Given the description of an element on the screen output the (x, y) to click on. 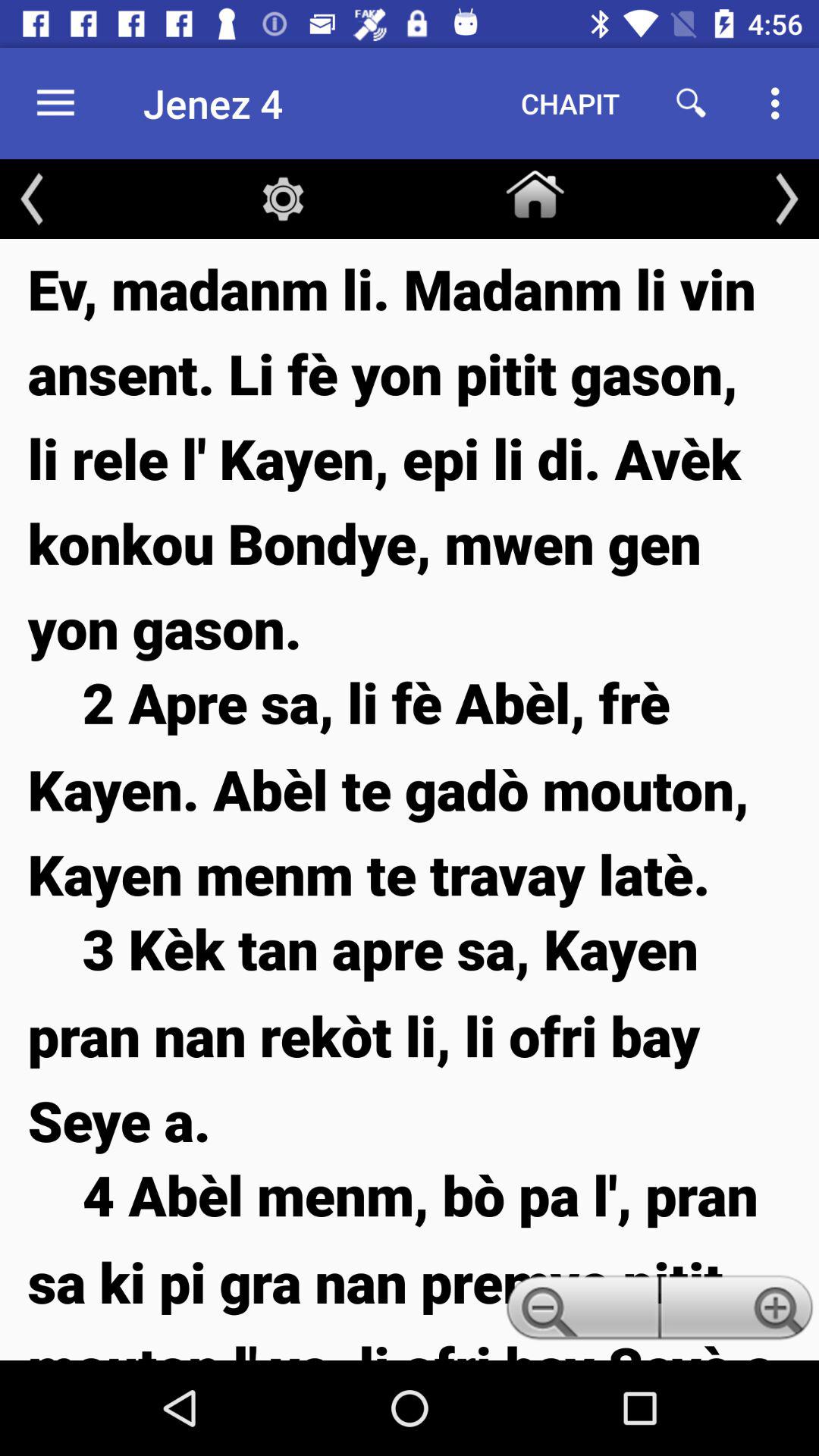
open icon to the right of the jenez 4 icon (570, 103)
